Given the description of an element on the screen output the (x, y) to click on. 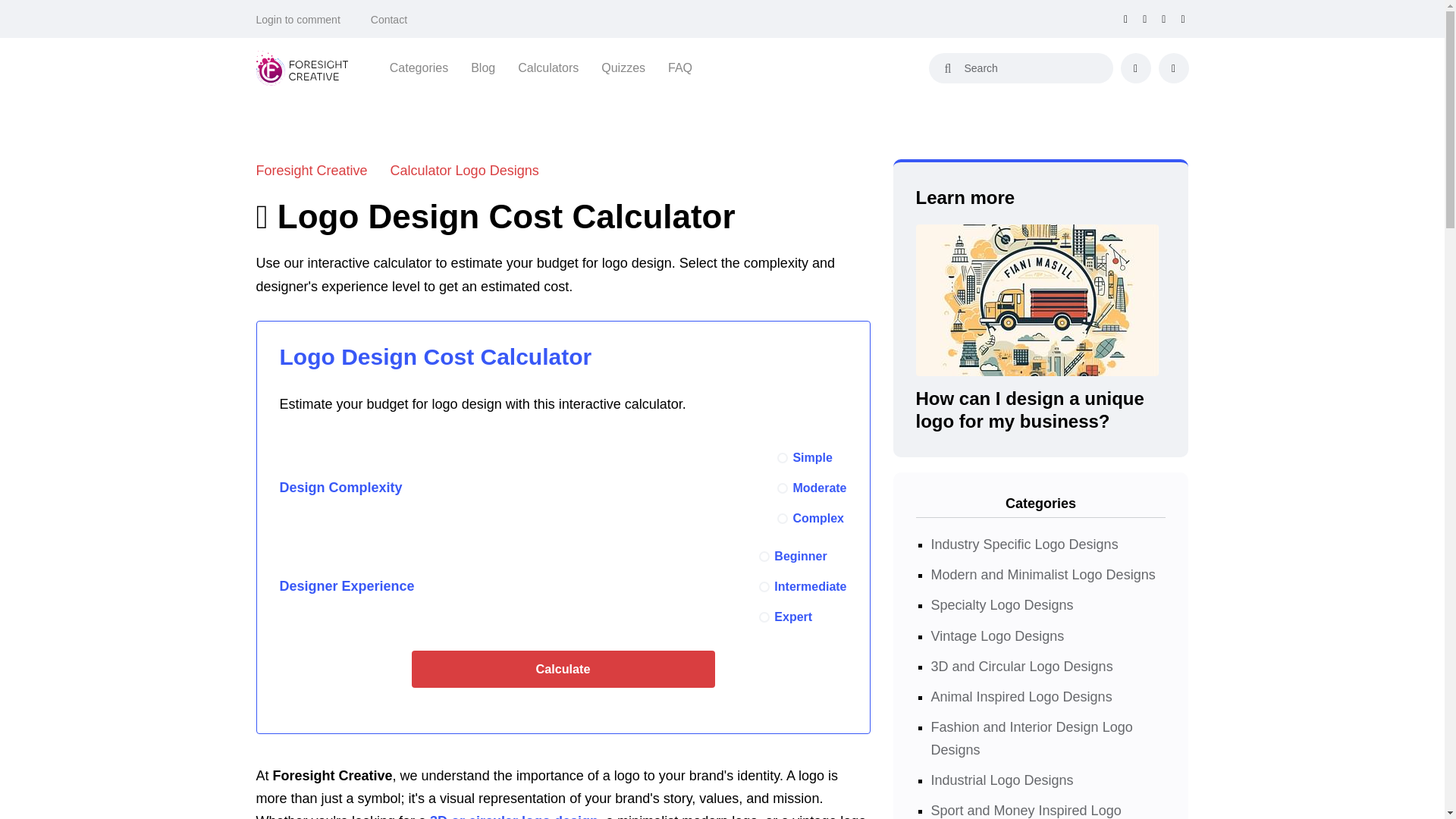
Contact (389, 19)
Login to comment (298, 19)
Categories (419, 67)
